Given the description of an element on the screen output the (x, y) to click on. 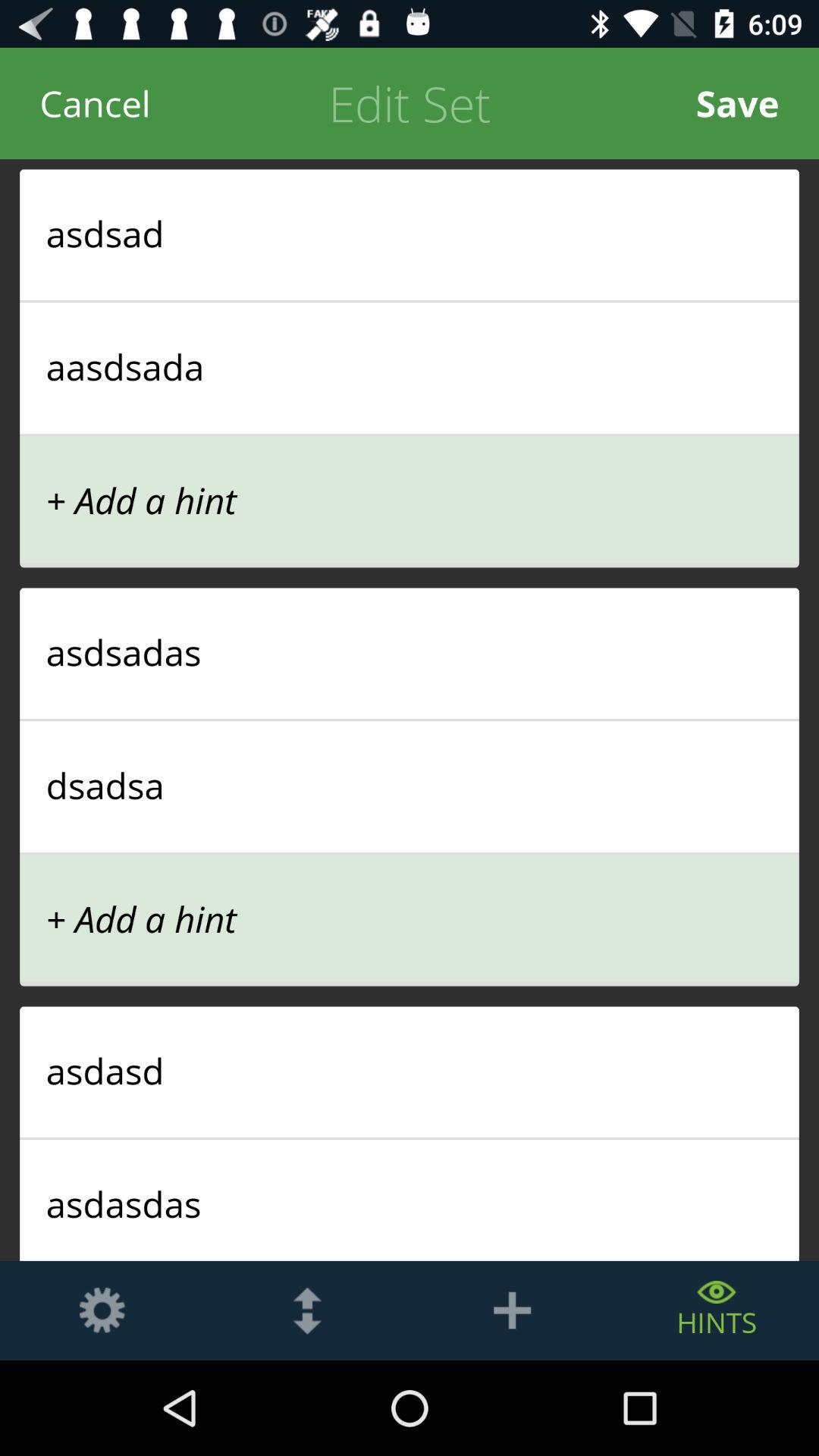
tap icon below asdasd icon (409, 1138)
